Given the description of an element on the screen output the (x, y) to click on. 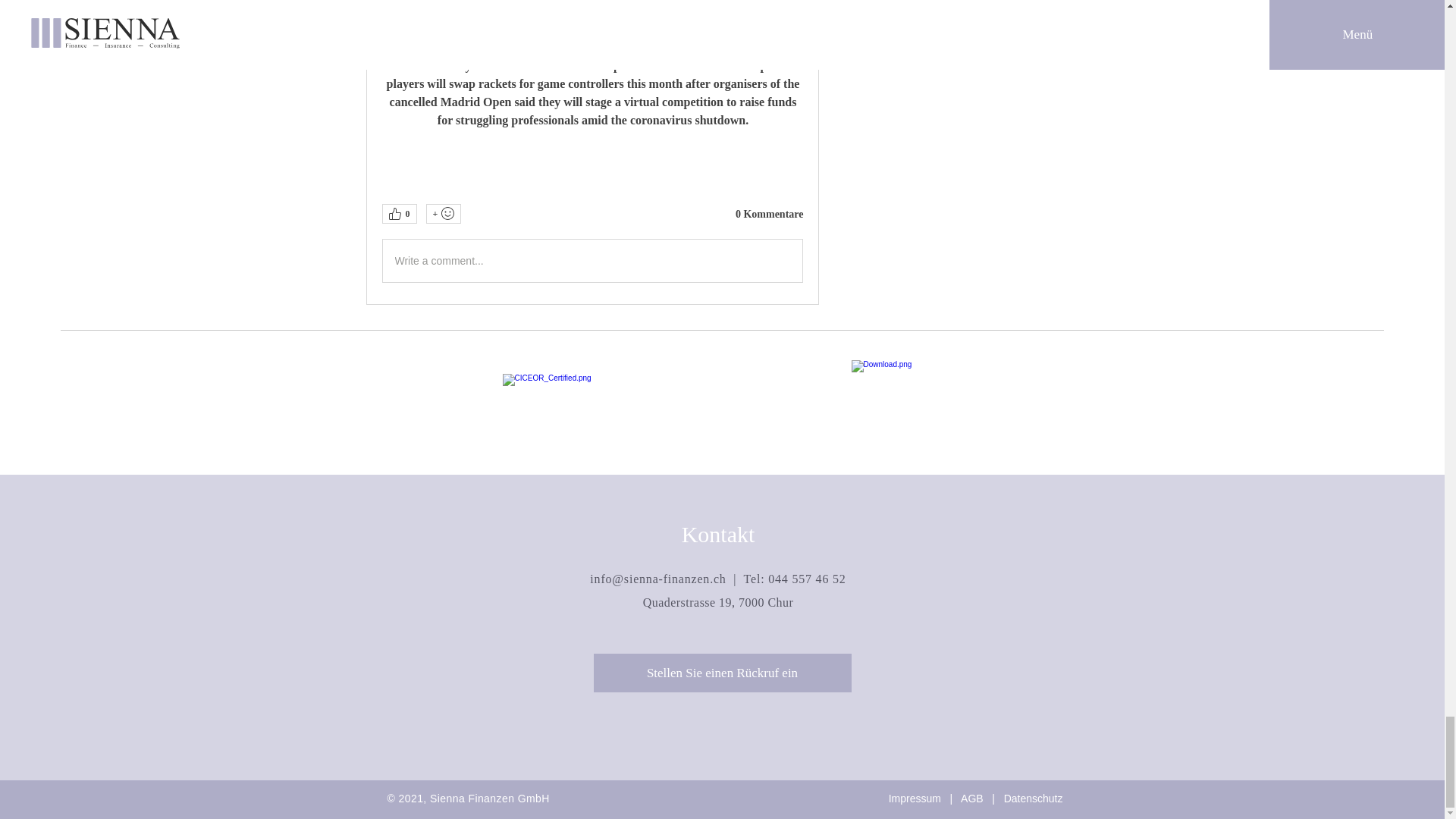
AGB (972, 798)
Impressum (914, 798)
0 Kommentare (769, 214)
Datenschutz (1033, 798)
Write a comment... (591, 260)
